Given the description of an element on the screen output the (x, y) to click on. 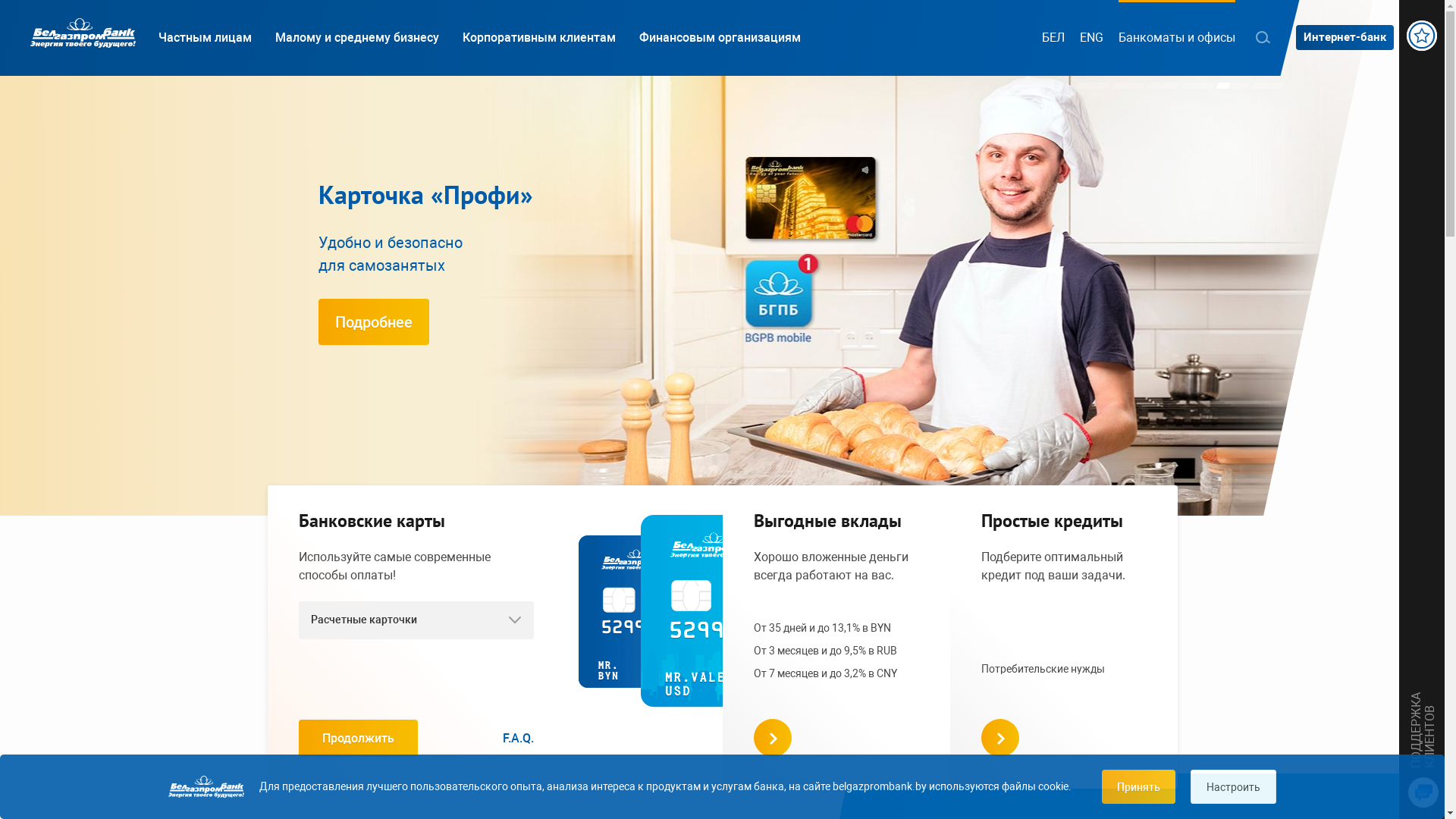
F.A.Q. Element type: text (517, 738)
ENG Element type: text (1091, 37)
